Given the description of an element on the screen output the (x, y) to click on. 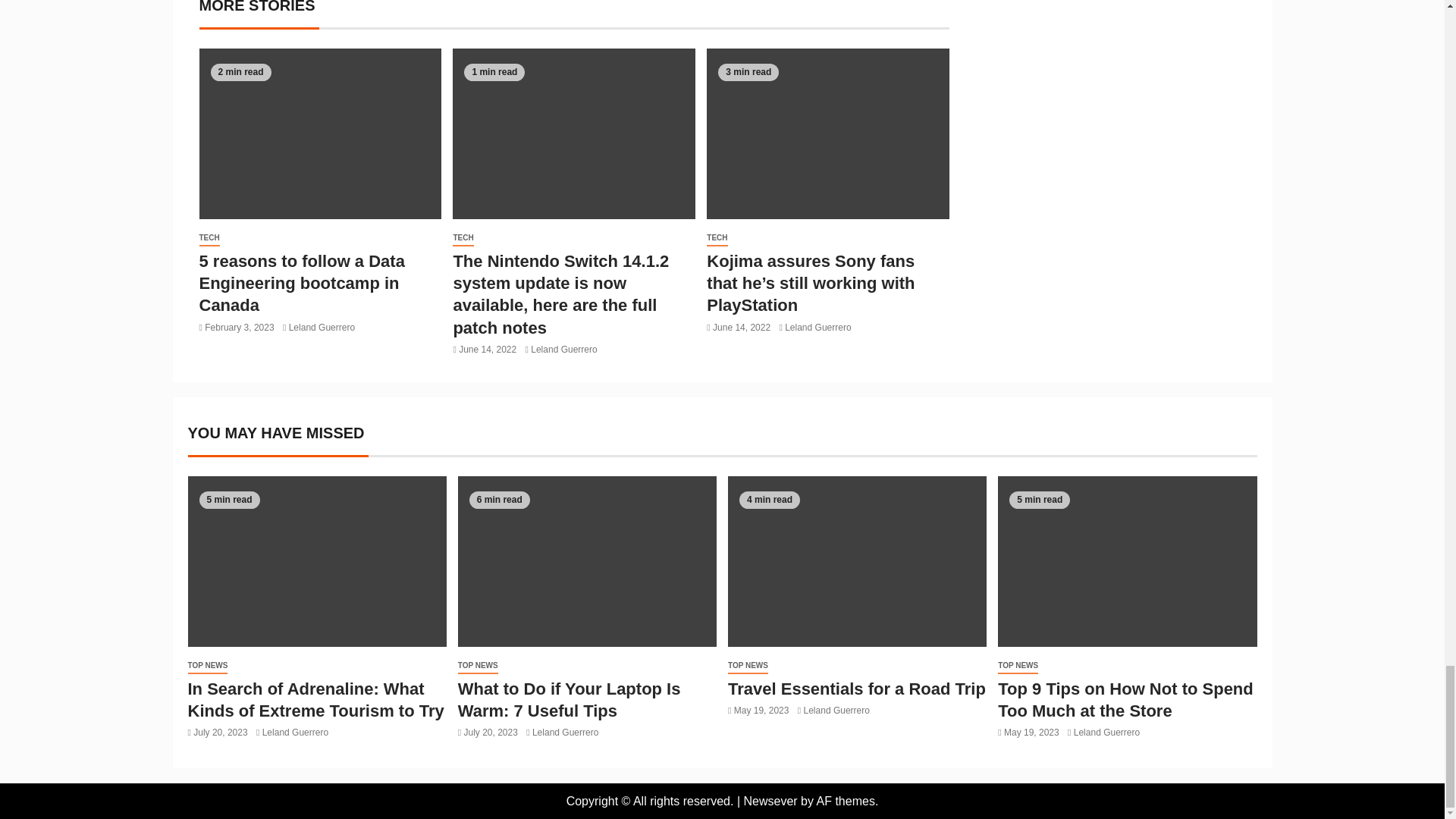
5 reasons to follow a Data Engineering bootcamp in Canada (301, 283)
TECH (208, 238)
Leland Guerrero (321, 327)
